Given the description of an element on the screen output the (x, y) to click on. 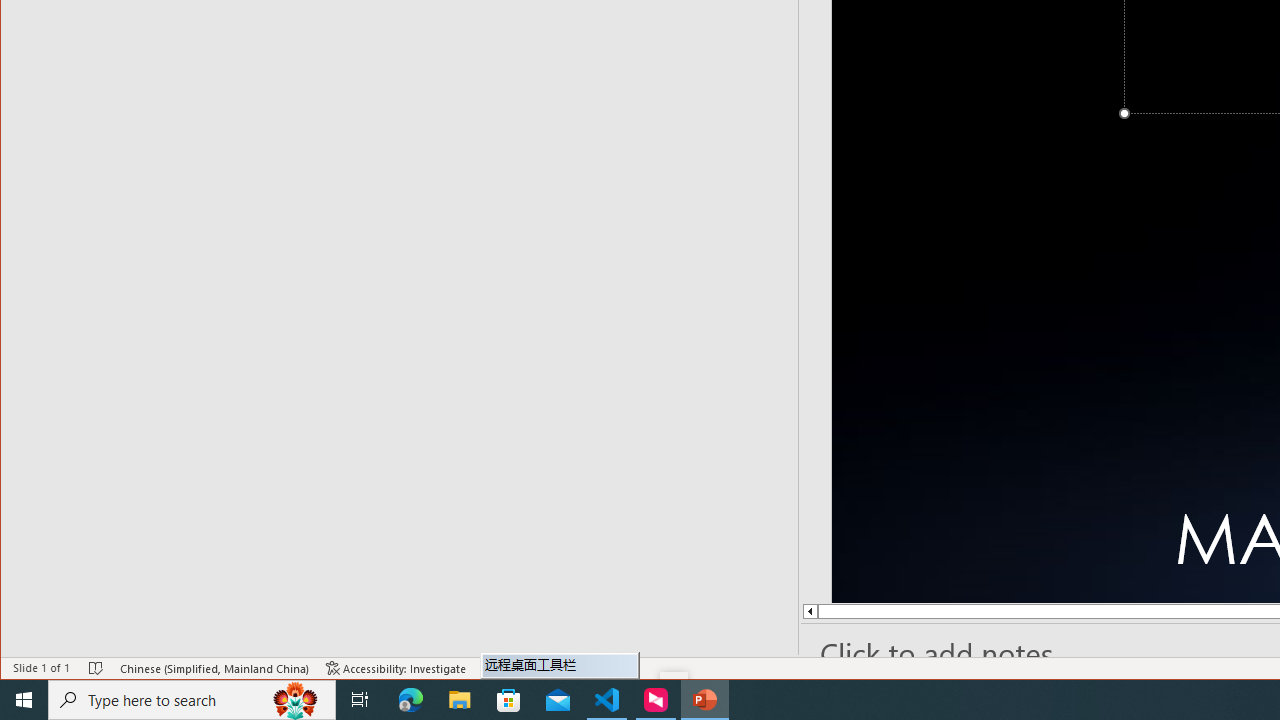
Search highlights icon opens search home window (295, 699)
Accessibility Checker Accessibility: Investigate (395, 668)
Start (24, 699)
Type here to search (191, 699)
File Explorer (460, 699)
Task View (359, 699)
Microsoft Edge (411, 699)
Microsoft Store (509, 699)
Spell Check No Errors (96, 668)
PowerPoint - 1 running window (704, 699)
Visual Studio Code - 1 running window (607, 699)
